Given the description of an element on the screen output the (x, y) to click on. 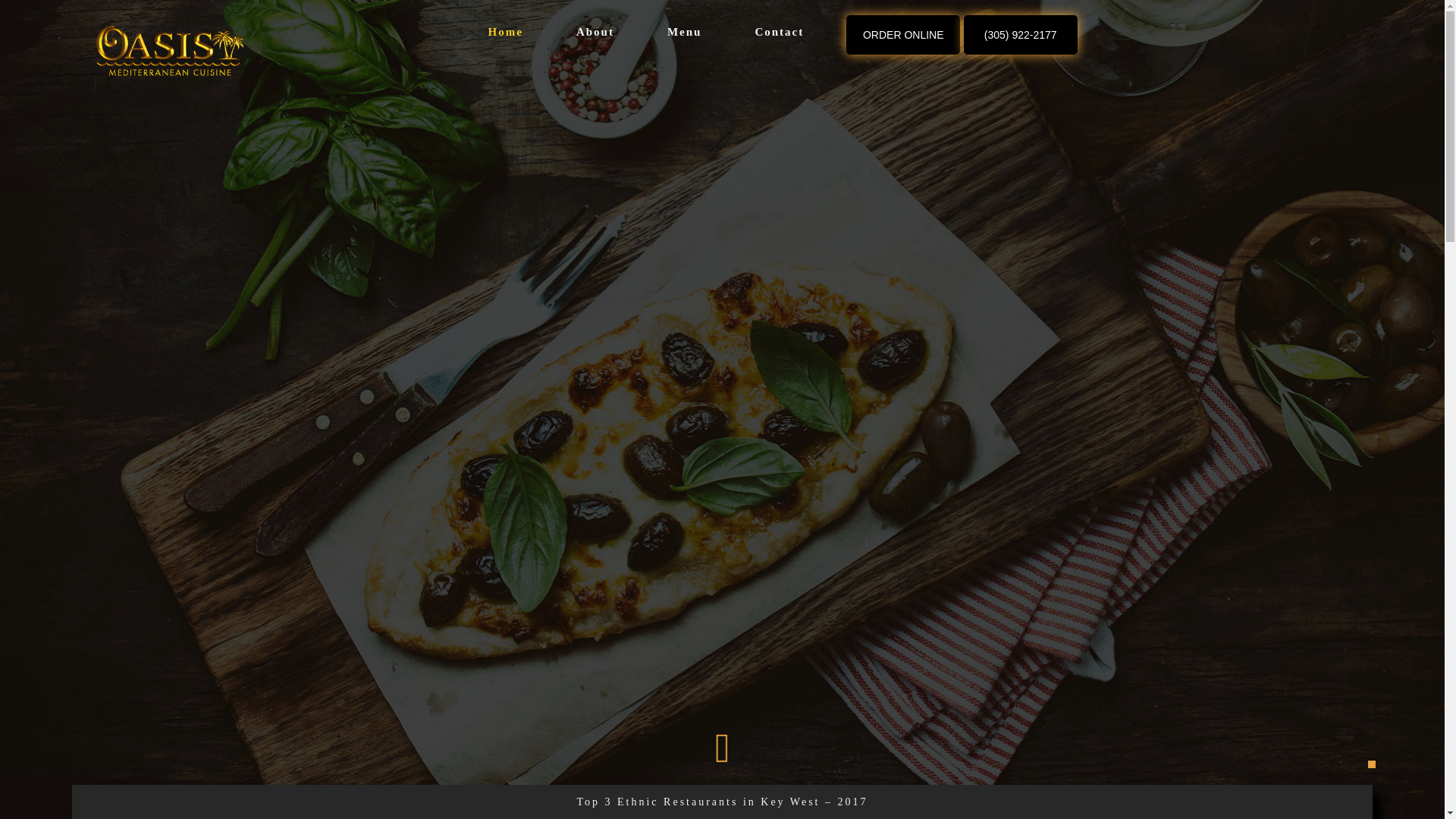
1 (1371, 764)
Menu (684, 32)
Contact (779, 32)
About (594, 32)
ORDER ONLINE (902, 34)
Home (505, 32)
